Given the description of an element on the screen output the (x, y) to click on. 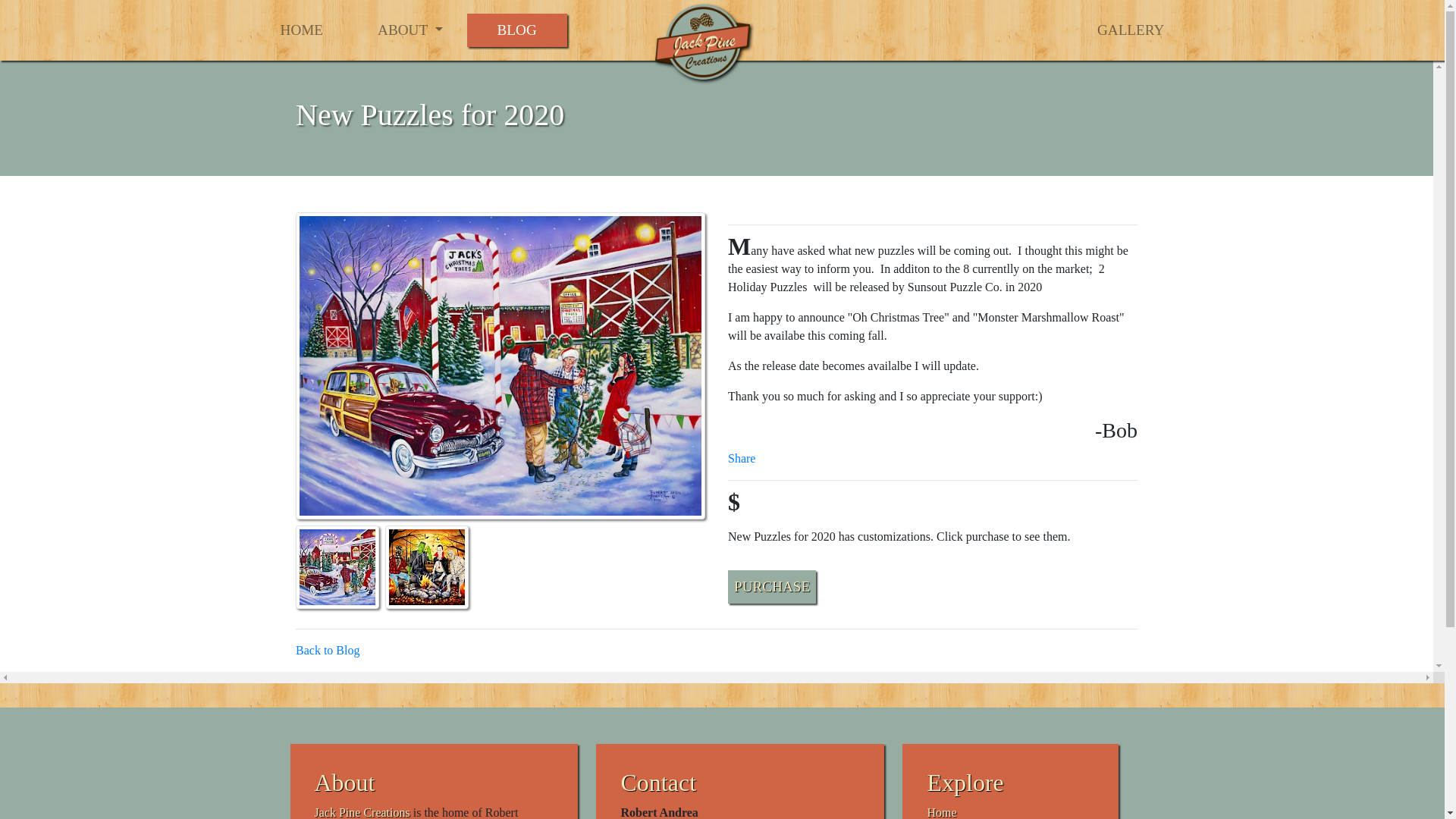
Back to Blog (327, 649)
GALLERY (1130, 30)
BLOG (517, 30)
ABOUT (409, 29)
PURCHASE (771, 587)
Jack Pine Creations (361, 812)
Home (941, 812)
New Puzzles for 2020 Full Size Image (499, 364)
Share (741, 458)
HOME (302, 30)
